Given the description of an element on the screen output the (x, y) to click on. 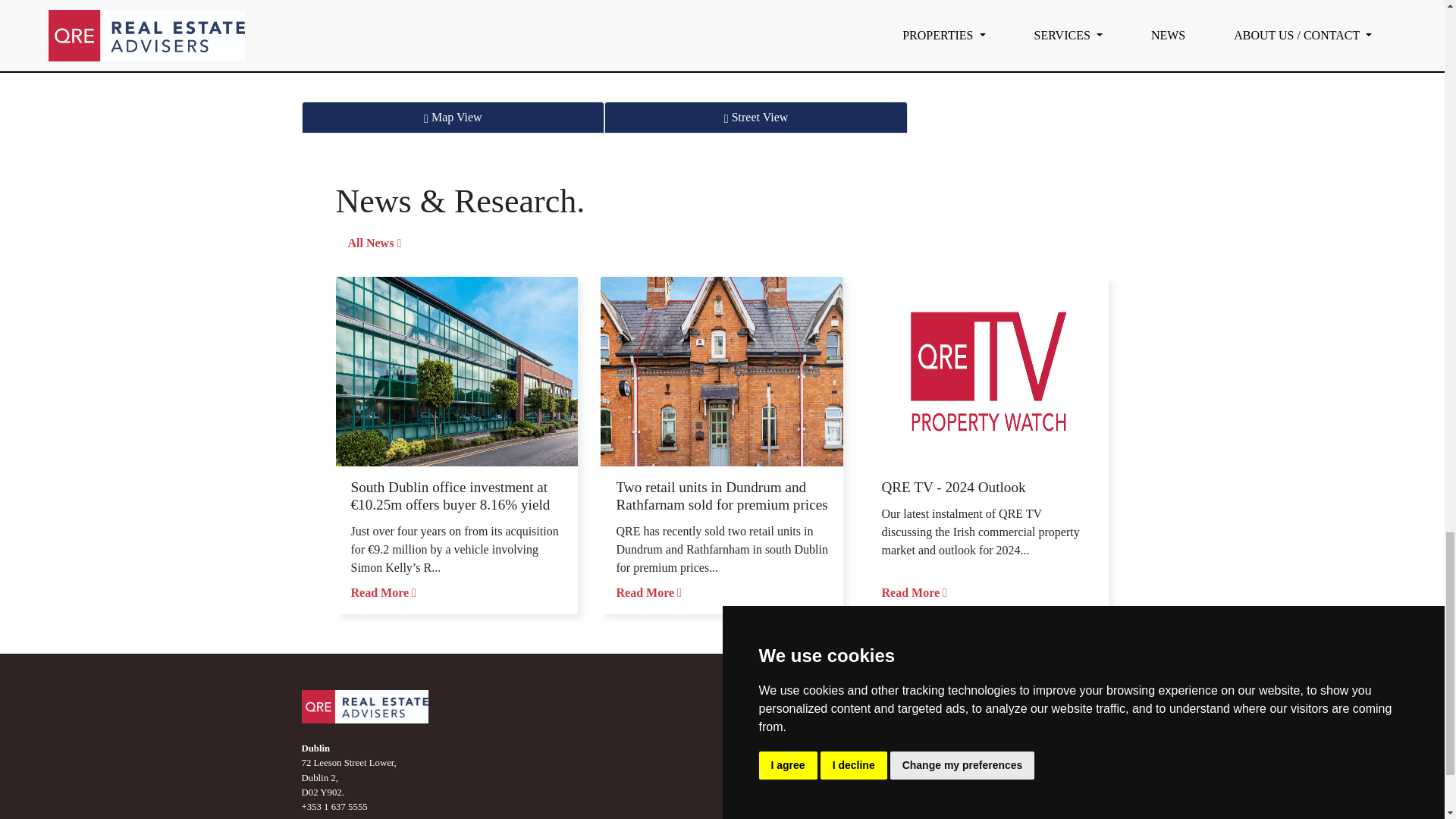
Map View (453, 117)
All News (373, 243)
Read More (648, 592)
Read More (913, 592)
Street View (755, 117)
Read More (382, 592)
